Given the description of an element on the screen output the (x, y) to click on. 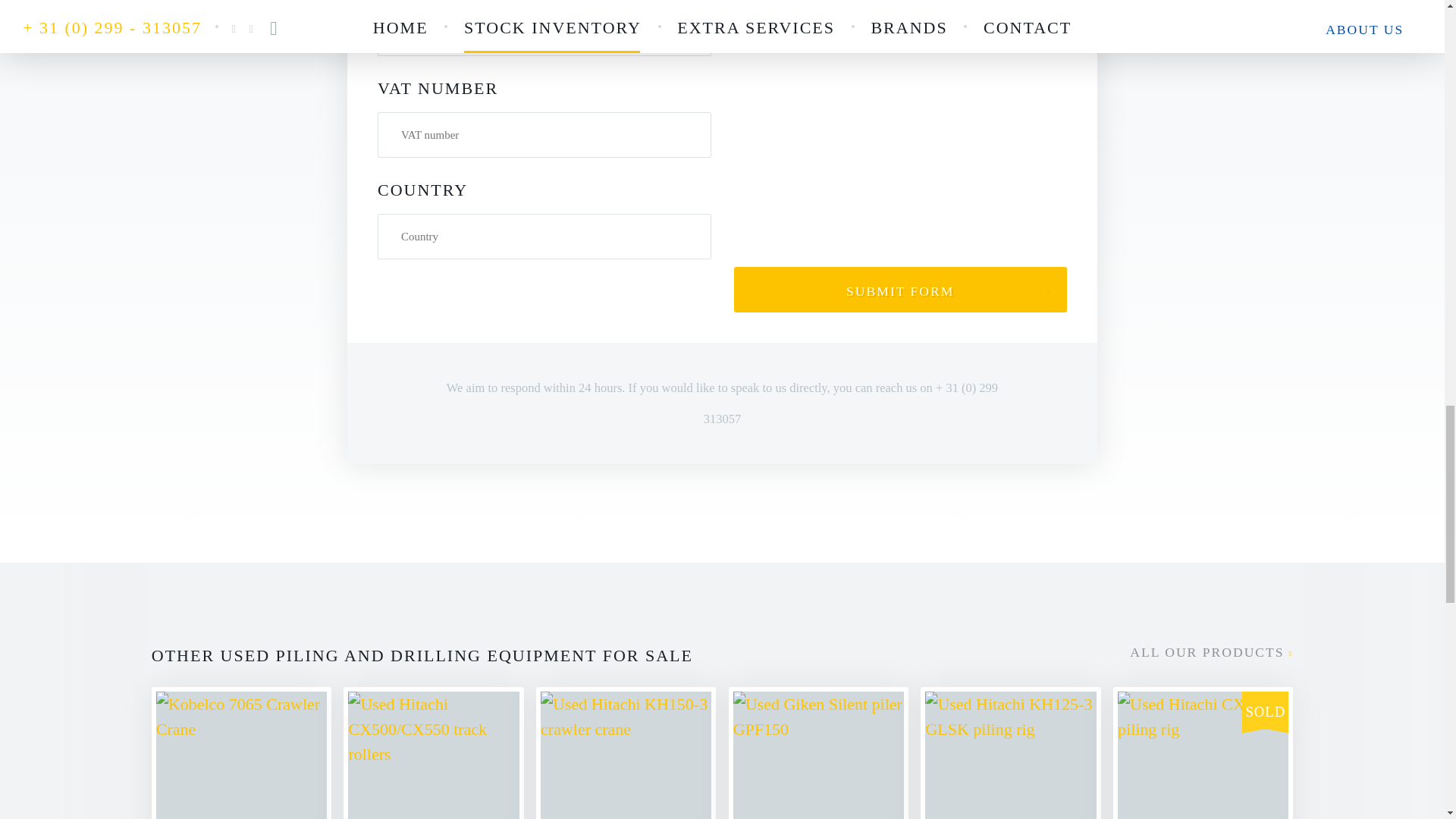
ALL OUR PRODUCTS (625, 753)
SUBMIT FORM (818, 753)
